Given the description of an element on the screen output the (x, y) to click on. 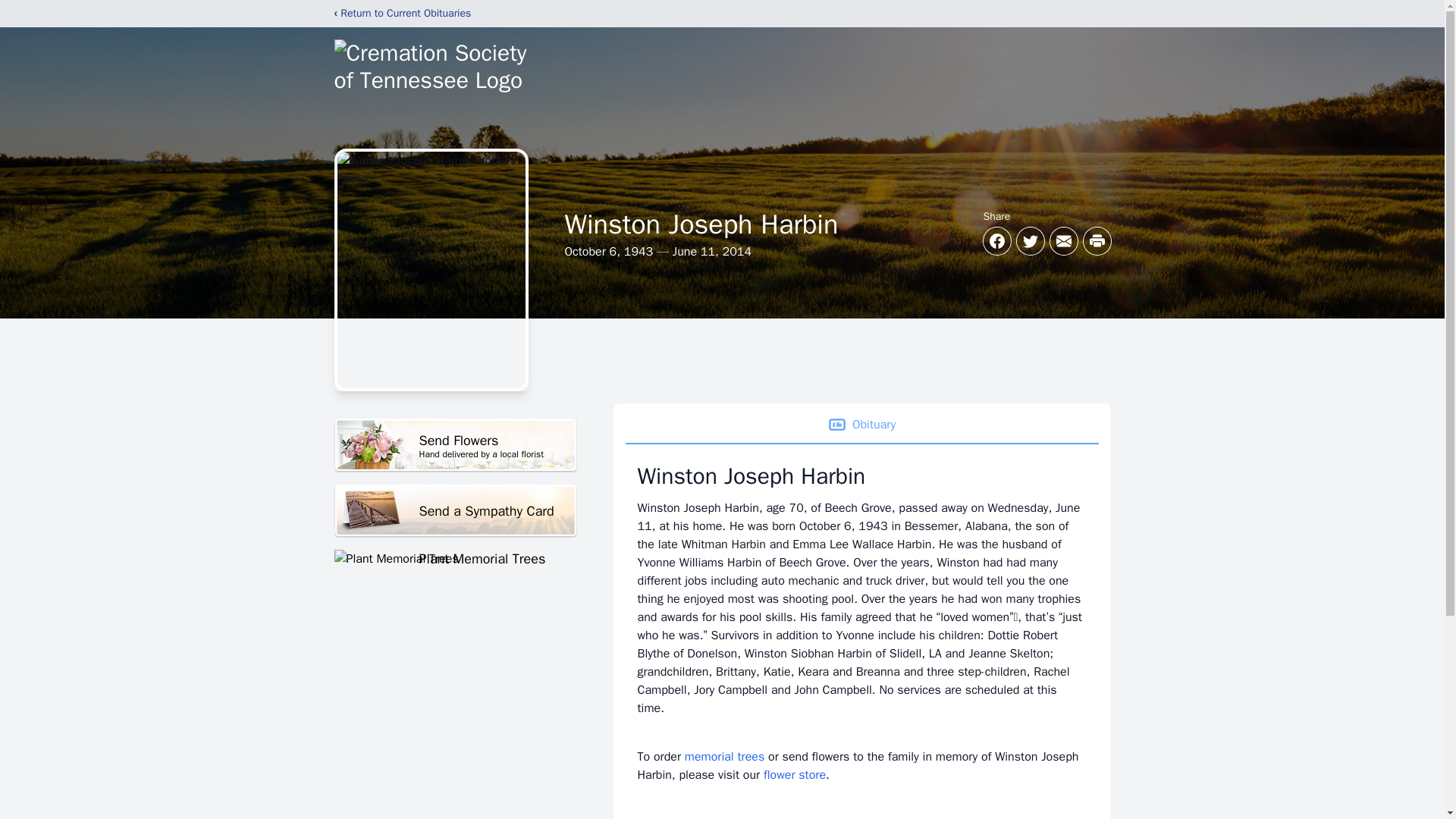
memorial trees (724, 756)
Send a Sympathy Card (454, 445)
flower store (454, 511)
Plant Memorial Trees (793, 774)
Obituary (454, 558)
